Given the description of an element on the screen output the (x, y) to click on. 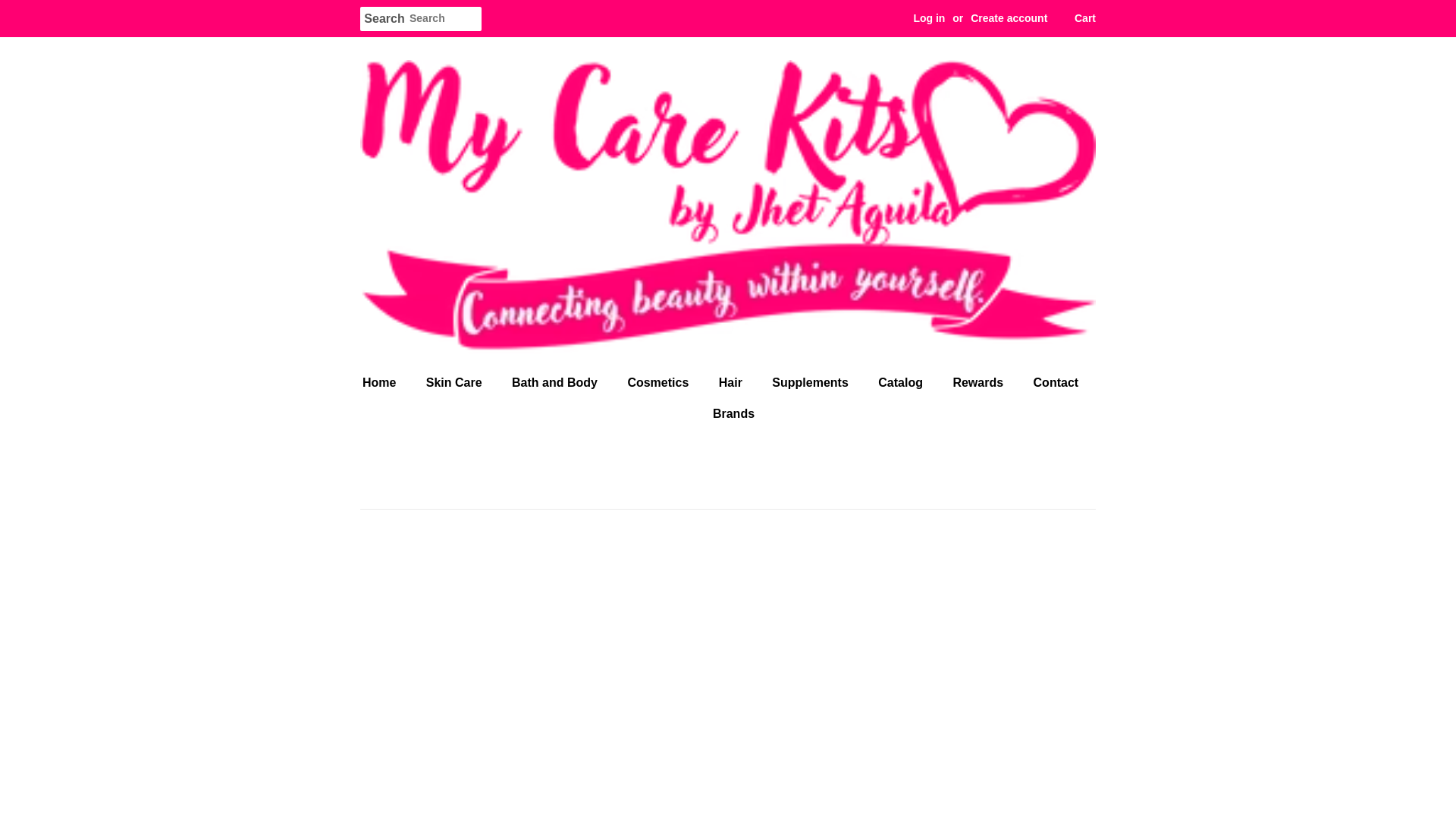
Catalog (901, 382)
Skin Care (455, 382)
Bath and Body (556, 382)
Cosmetics (659, 382)
Brands (727, 413)
Contact (1058, 382)
Rewards (978, 382)
Search (384, 18)
Home (386, 382)
Create account (1008, 18)
